Given the description of an element on the screen output the (x, y) to click on. 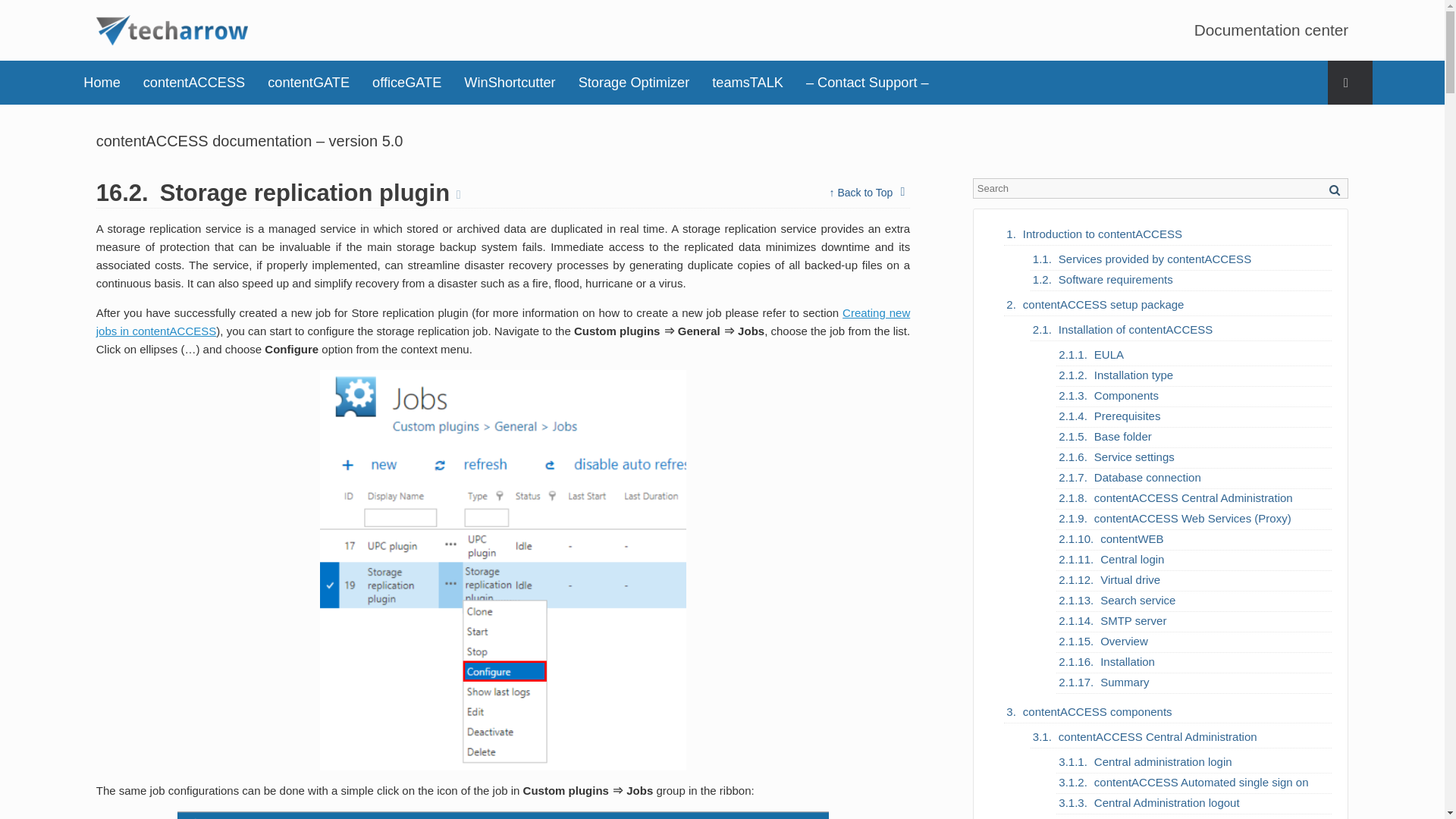
Central Administration logout (1167, 802)
Installation of contentACCESS (1135, 329)
WinShortcutter (509, 82)
contentACCESS Automated single sign on (1201, 781)
Summary (1124, 681)
Overview (1124, 640)
contentACCESS Central Administration user interface (1194, 815)
Base folder (1122, 436)
Virtual drive (1130, 579)
teamsTALK (747, 82)
Software requirements (1115, 279)
Prerequisites (1127, 415)
Central login (1131, 558)
contentACCESS Central Administration (1157, 736)
EULA (1109, 354)
